Given the description of an element on the screen output the (x, y) to click on. 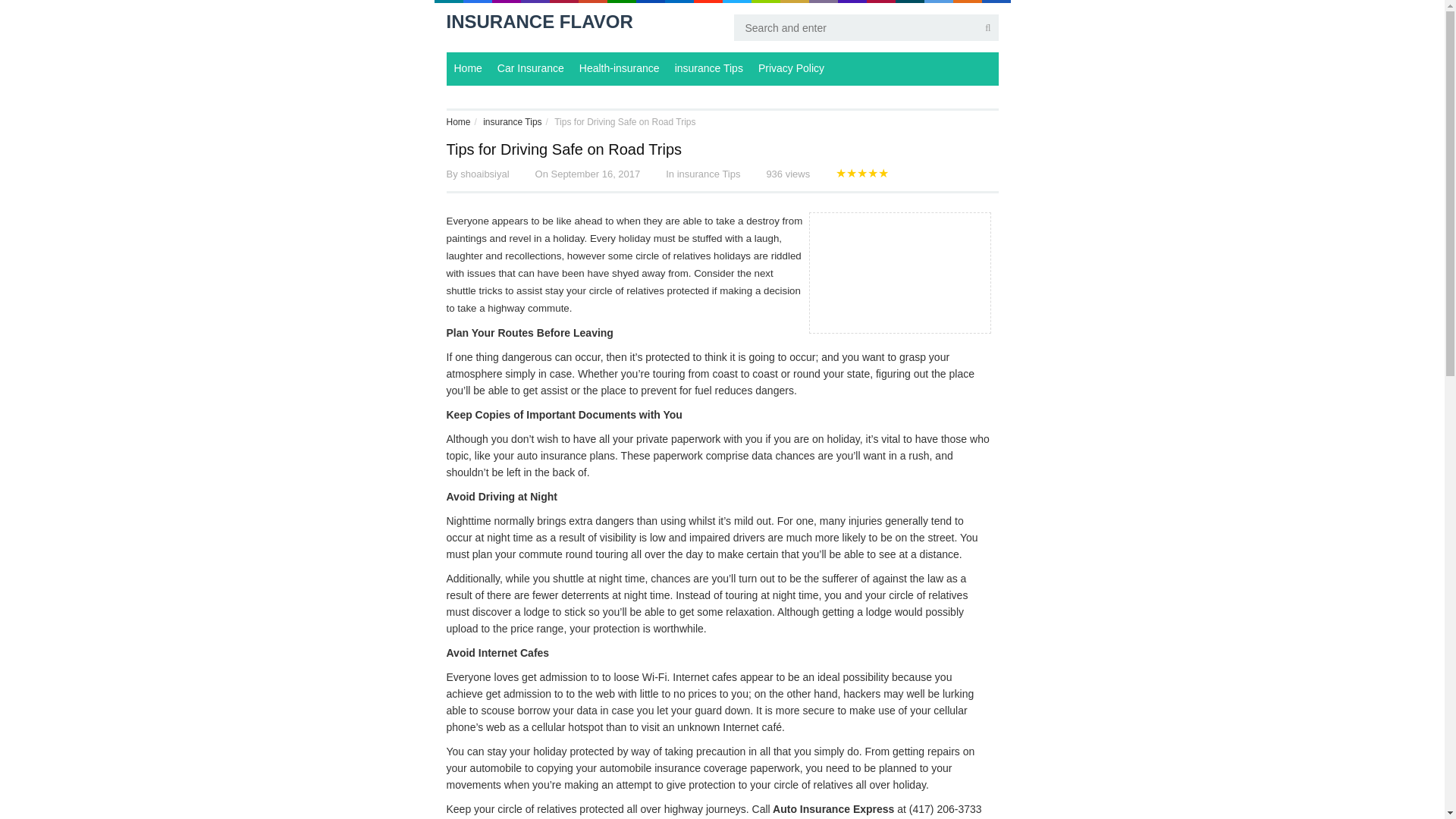
Search (132, 1)
View all posts by shoaibsiyal (484, 173)
insurance Tips (512, 122)
shoaibsiyal (484, 173)
Home (457, 122)
Home (467, 68)
Car Insurance (530, 68)
